Given the description of an element on the screen output the (x, y) to click on. 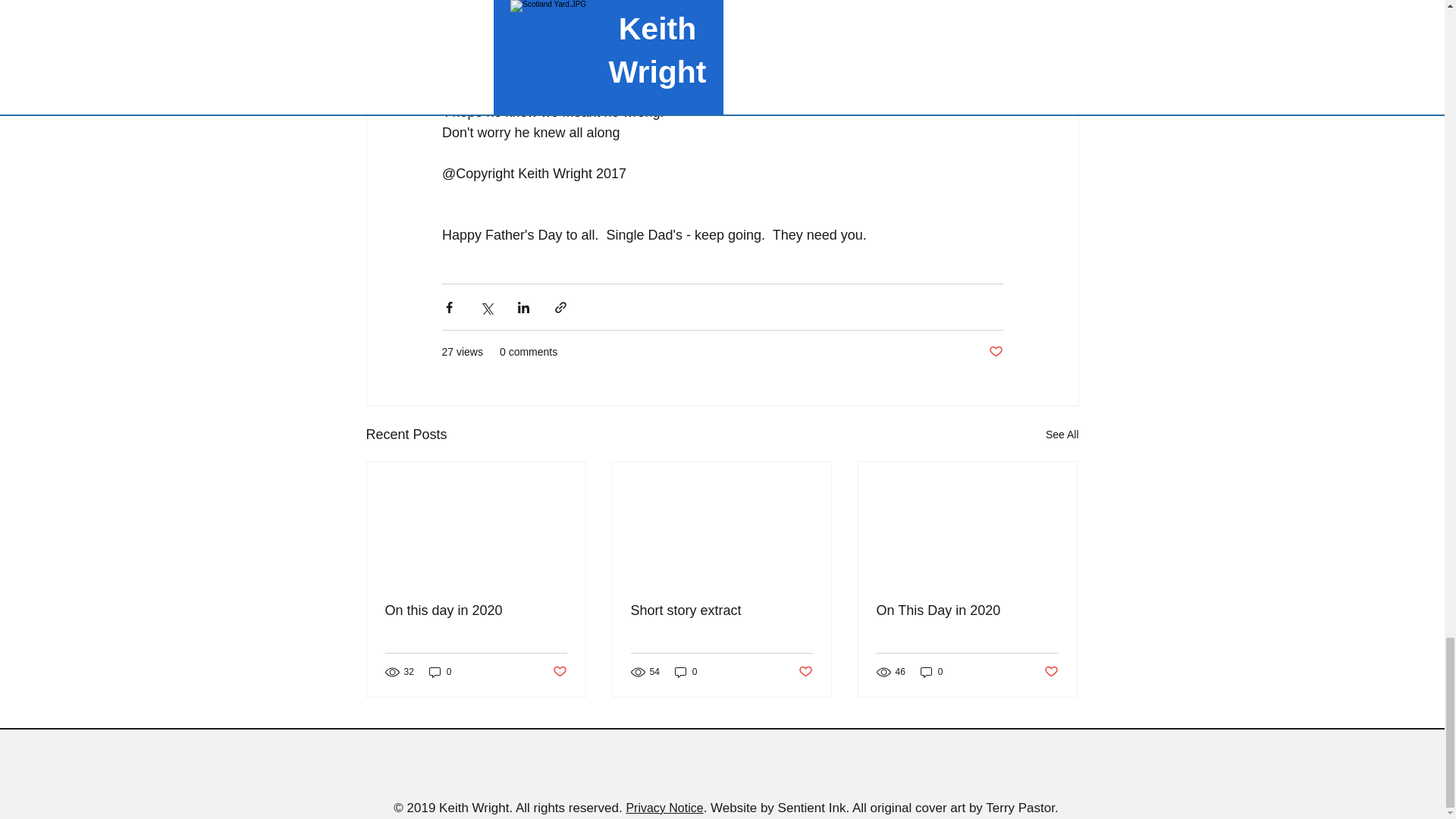
0 (440, 671)
See All (1061, 434)
Post not marked as liked (558, 672)
Short story extract (721, 610)
Post not marked as liked (804, 672)
On this day in 2020 (476, 610)
Privacy Notice (664, 807)
0 (685, 671)
Post not marked as liked (995, 351)
On This Day in 2020 (967, 610)
